Given the description of an element on the screen output the (x, y) to click on. 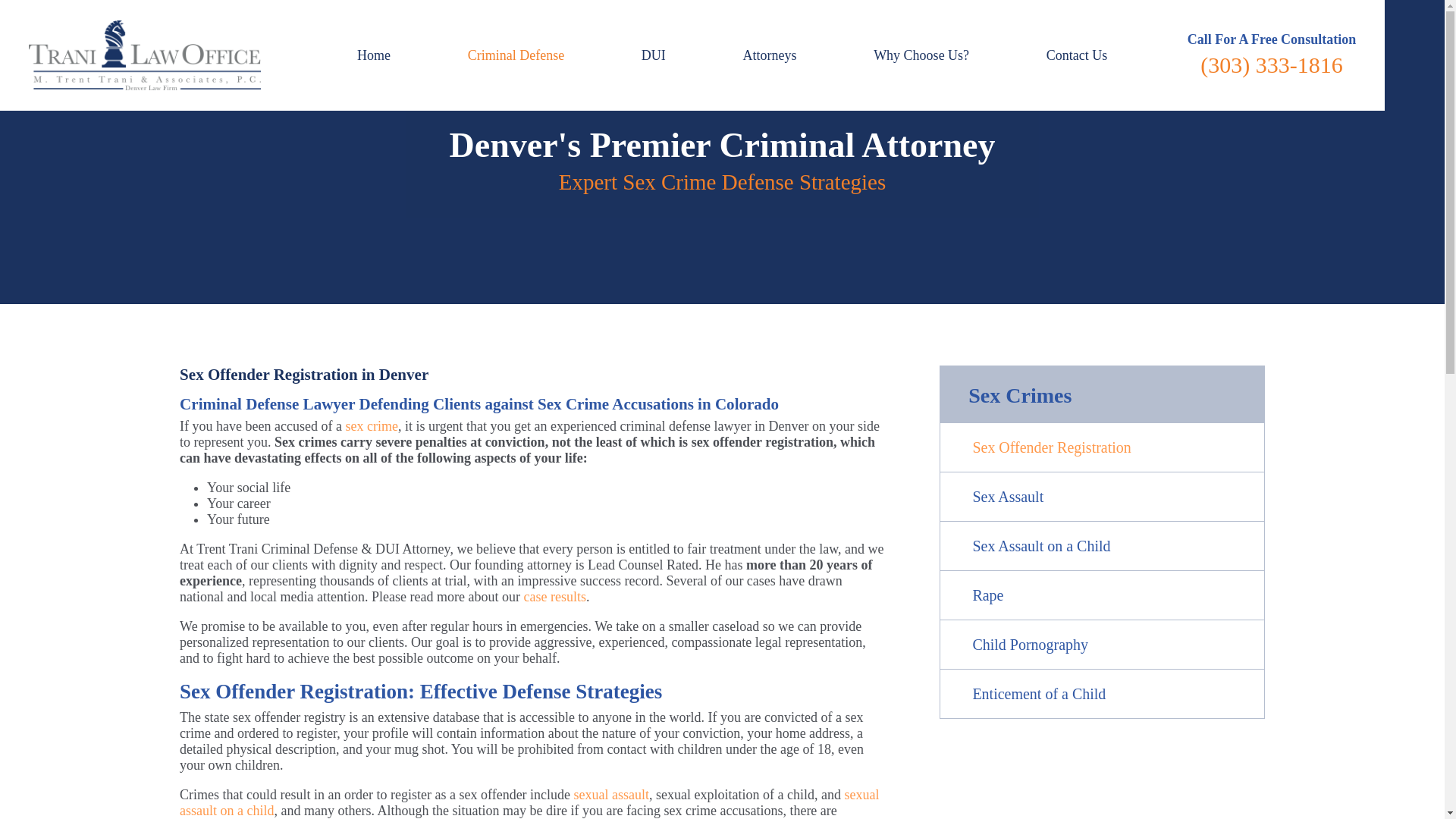
sexual assault on a child (529, 802)
Contact Us (1076, 55)
case results (553, 596)
Why Choose Us? (920, 55)
Attorneys (769, 55)
Home (373, 55)
DUI (653, 55)
Criminal Defense (515, 55)
sexual assault (611, 794)
sex crime (371, 426)
